Given the description of an element on the screen output the (x, y) to click on. 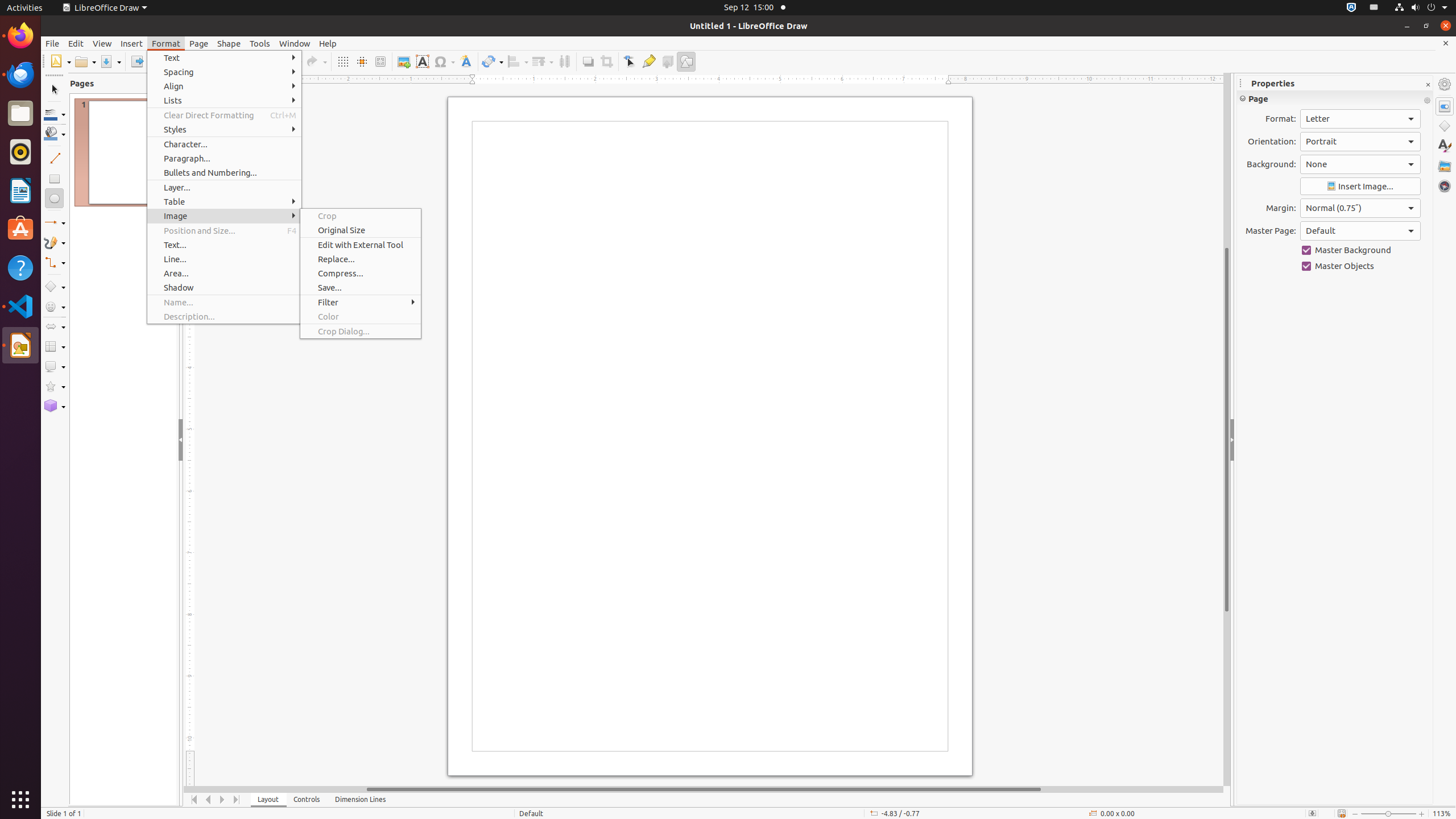
Compress... Element type: menu-item (360, 273)
Layer... Element type: menu-item (224, 187)
Text Box Element type: push-button (421, 61)
Clear Direct Formatting Element type: menu-item (224, 115)
Styles Element type: menu (224, 129)
